Given the description of an element on the screen output the (x, y) to click on. 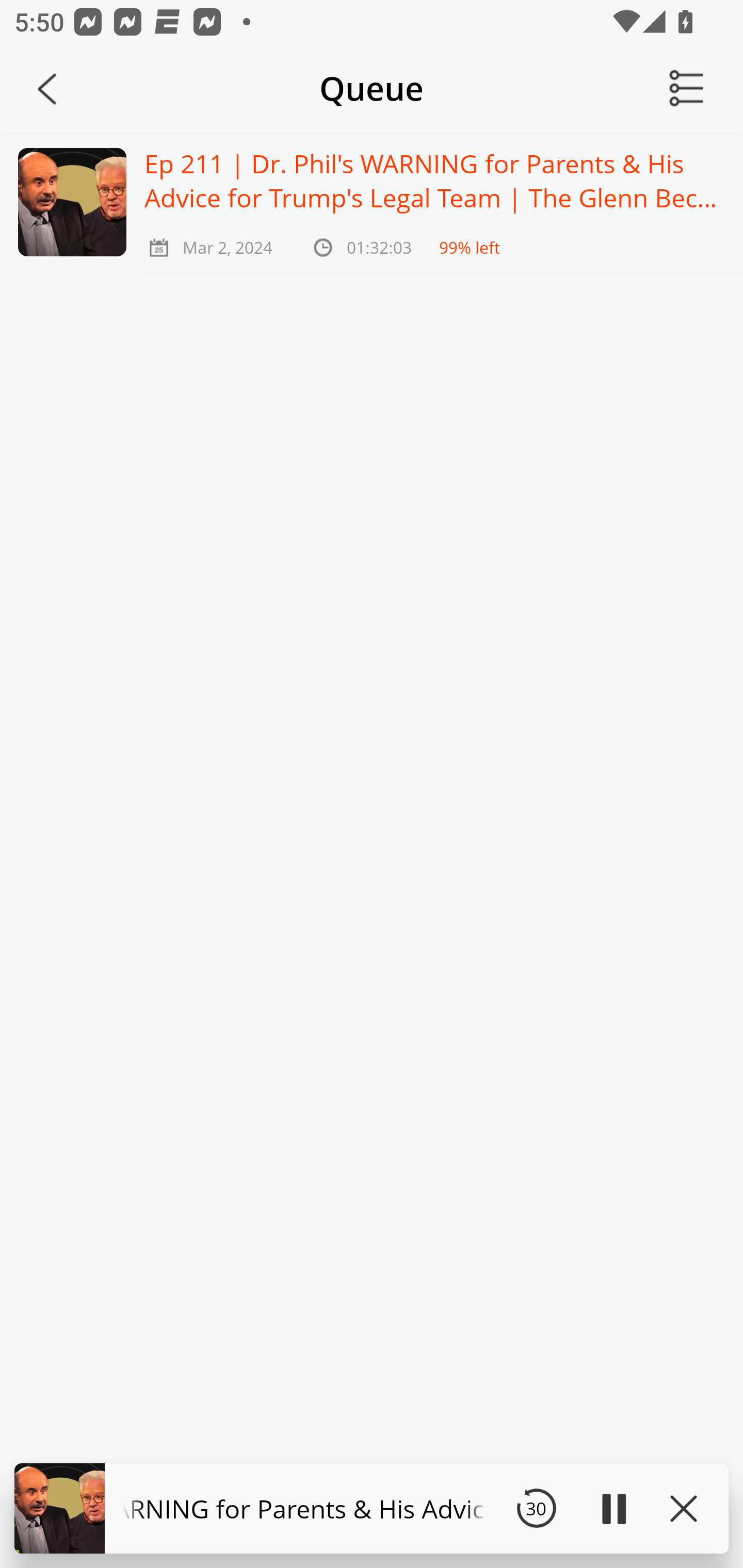
Back (46, 88)
Play (613, 1507)
30 Seek Backward (536, 1508)
